Given the description of an element on the screen output the (x, y) to click on. 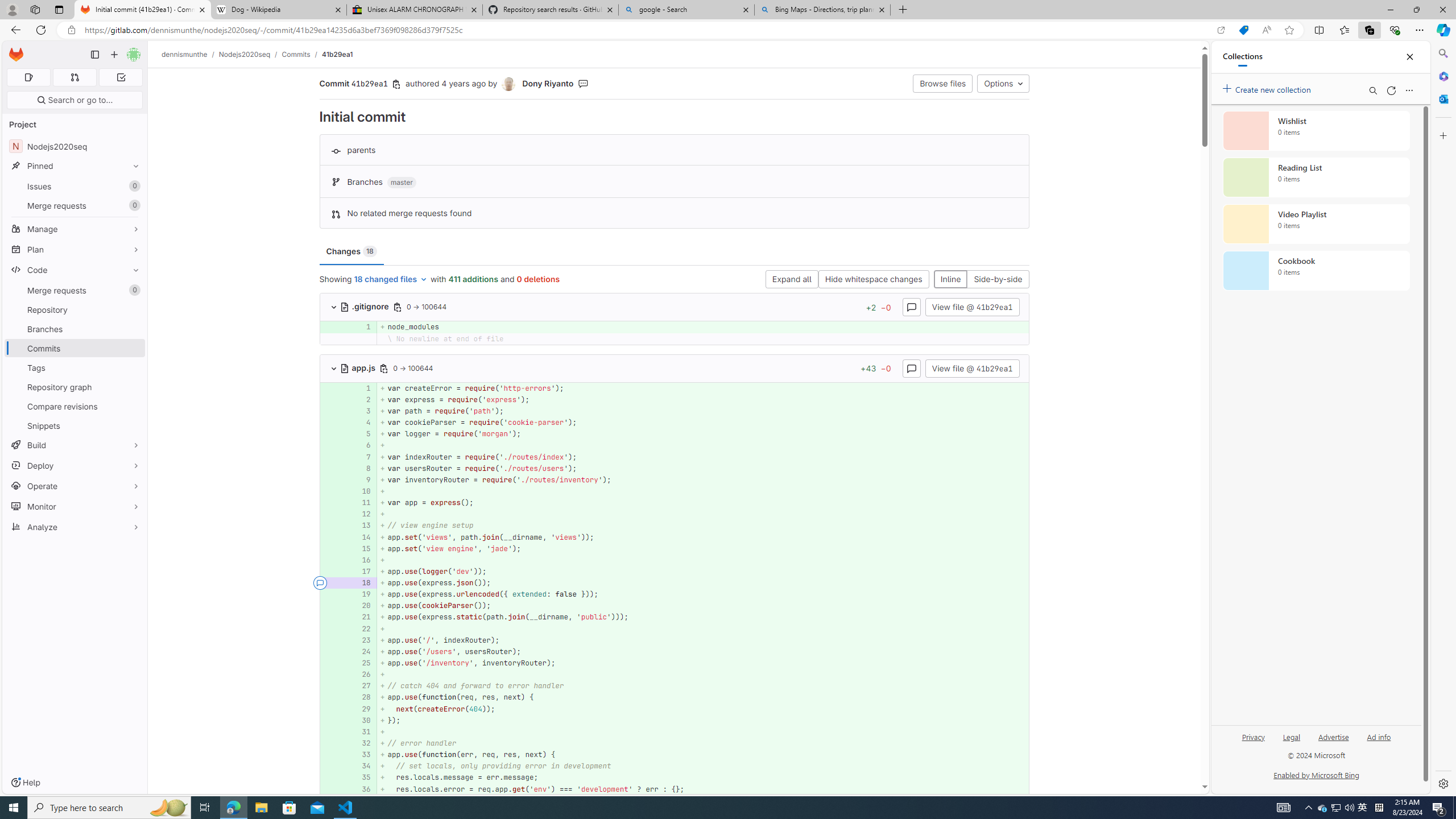
Add a comment to this line  (333, 788)
Split screen (1318, 29)
29 (360, 708)
AutomationID: 4a68969ef8e858229267b842dedf42ab5dde4d50_0_27 (674, 686)
Cookbook collection, 0 items (1316, 270)
+ app.use(logger('dev'));  (703, 571)
30 (360, 720)
Class: s16 chevron-down (333, 368)
+ app.use('/users', usersRouter);  (703, 651)
.gitignore  (365, 306)
Hide whitespace changes (873, 279)
Workspaces (34, 9)
11 (362, 503)
Outlook (1442, 98)
